Given the description of an element on the screen output the (x, y) to click on. 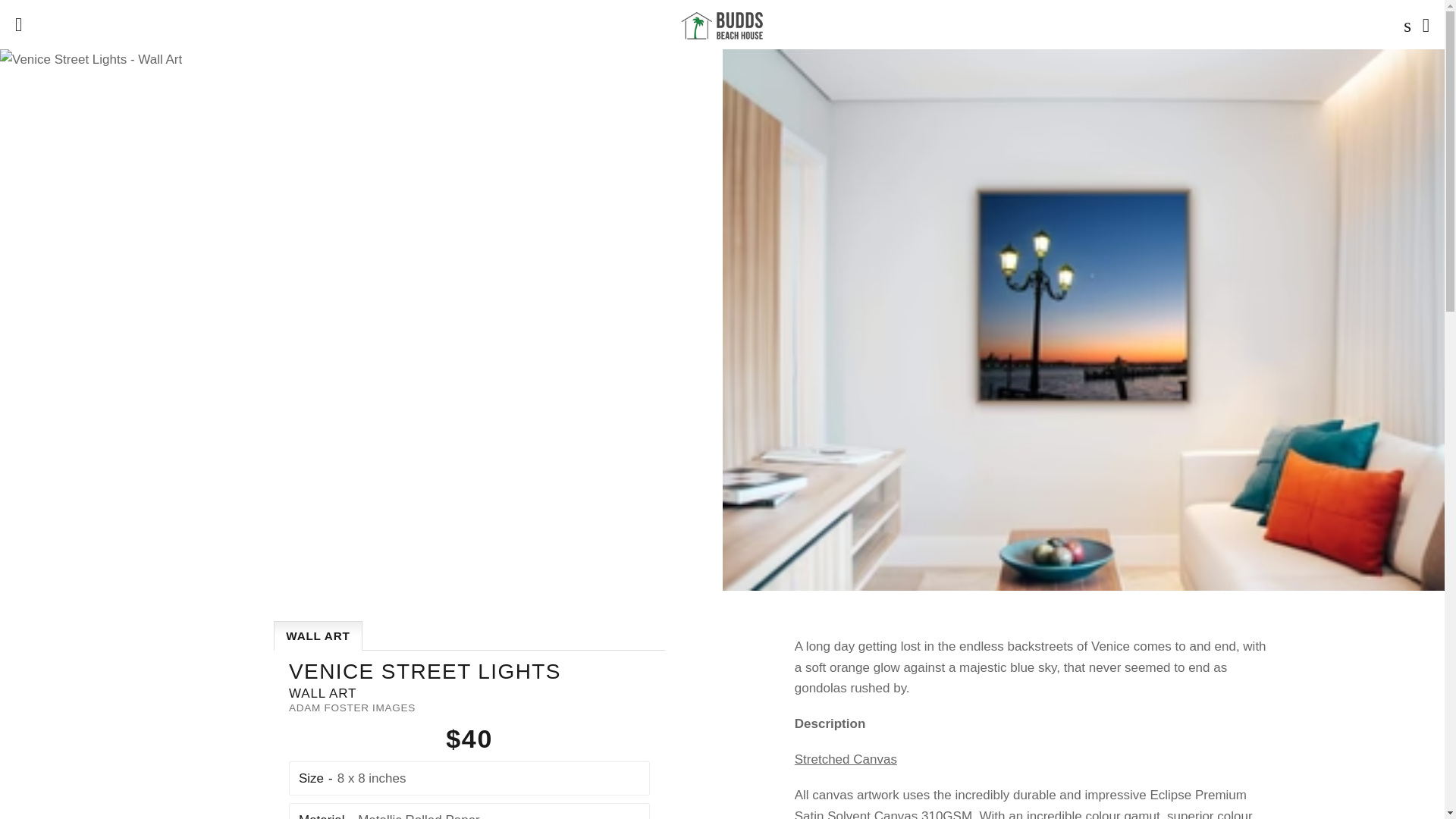
WALL ART (317, 635)
